Given the description of an element on the screen output the (x, y) to click on. 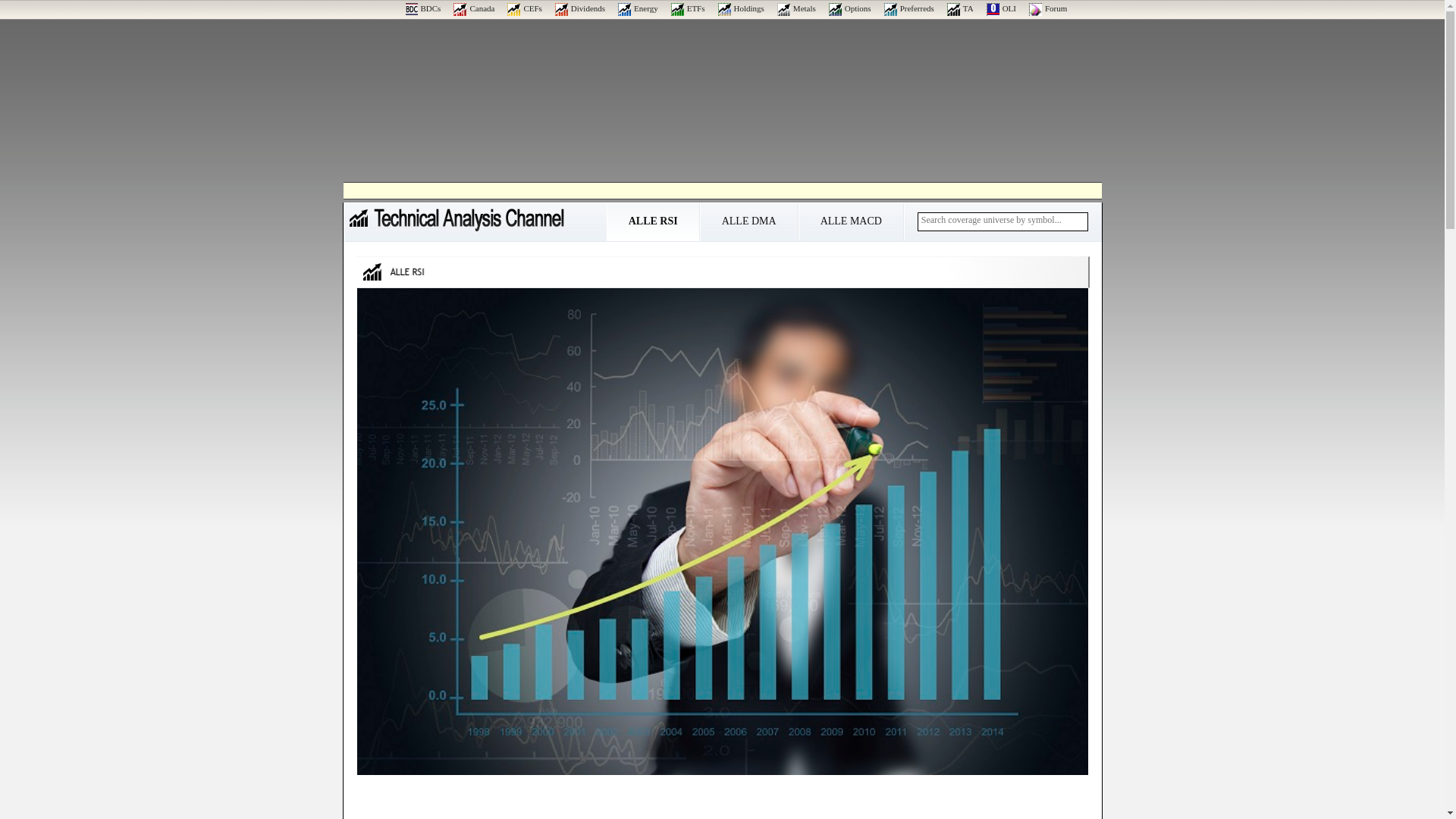
Stock Options Channel (849, 8)
Metals (796, 8)
CEF Channel (523, 8)
Holdings Channel (740, 8)
Dividend Channel (579, 8)
Forum (1048, 8)
Enery Stock Channel (637, 8)
CEFs (523, 8)
Canada (473, 8)
TA (960, 8)
The Online Investor (1001, 8)
ETFs (687, 8)
Options (849, 8)
Preferred Stocks (908, 8)
Preferreds (908, 8)
